Given the description of an element on the screen output the (x, y) to click on. 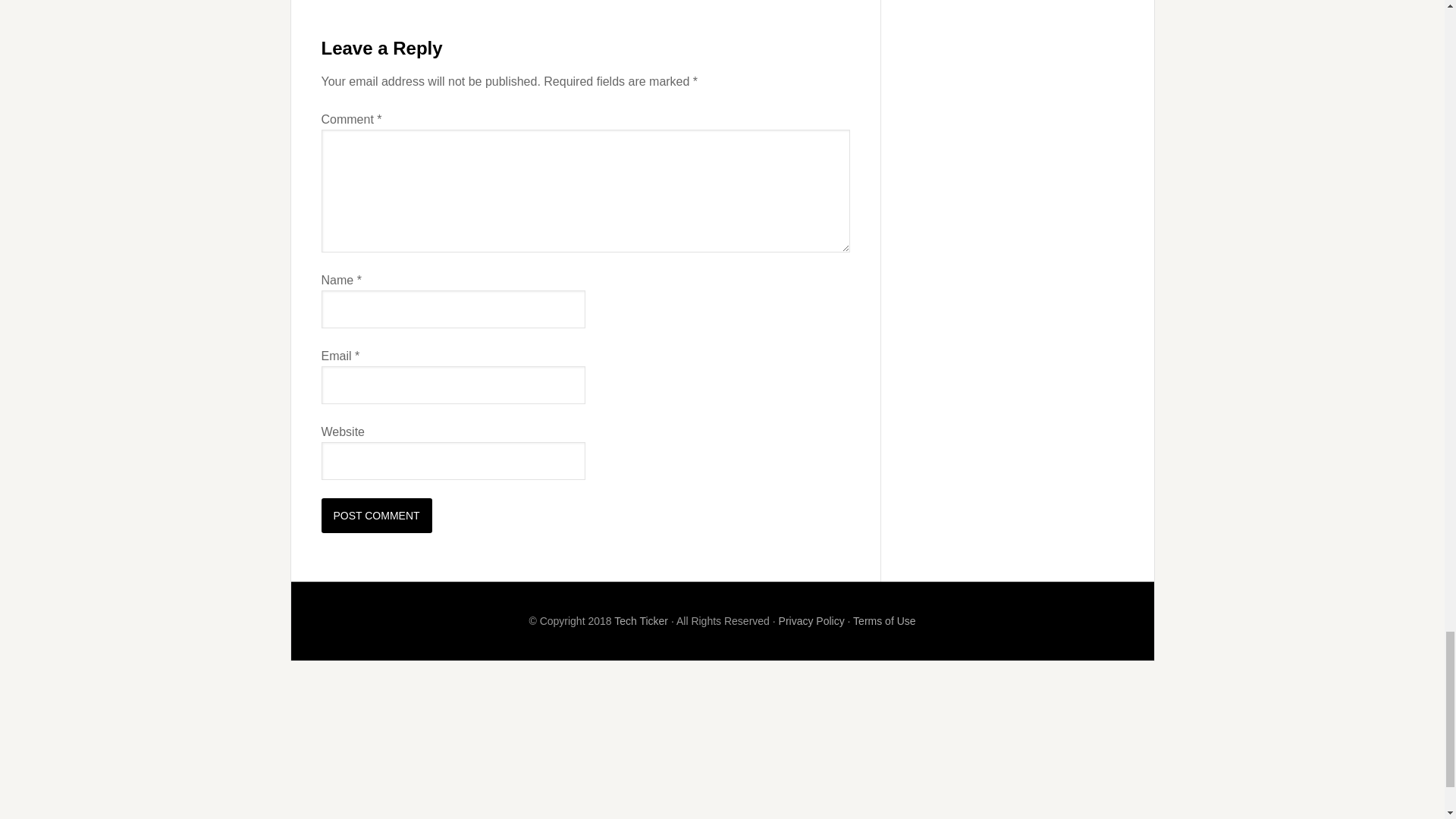
Post Comment (376, 515)
